Given the description of an element on the screen output the (x, y) to click on. 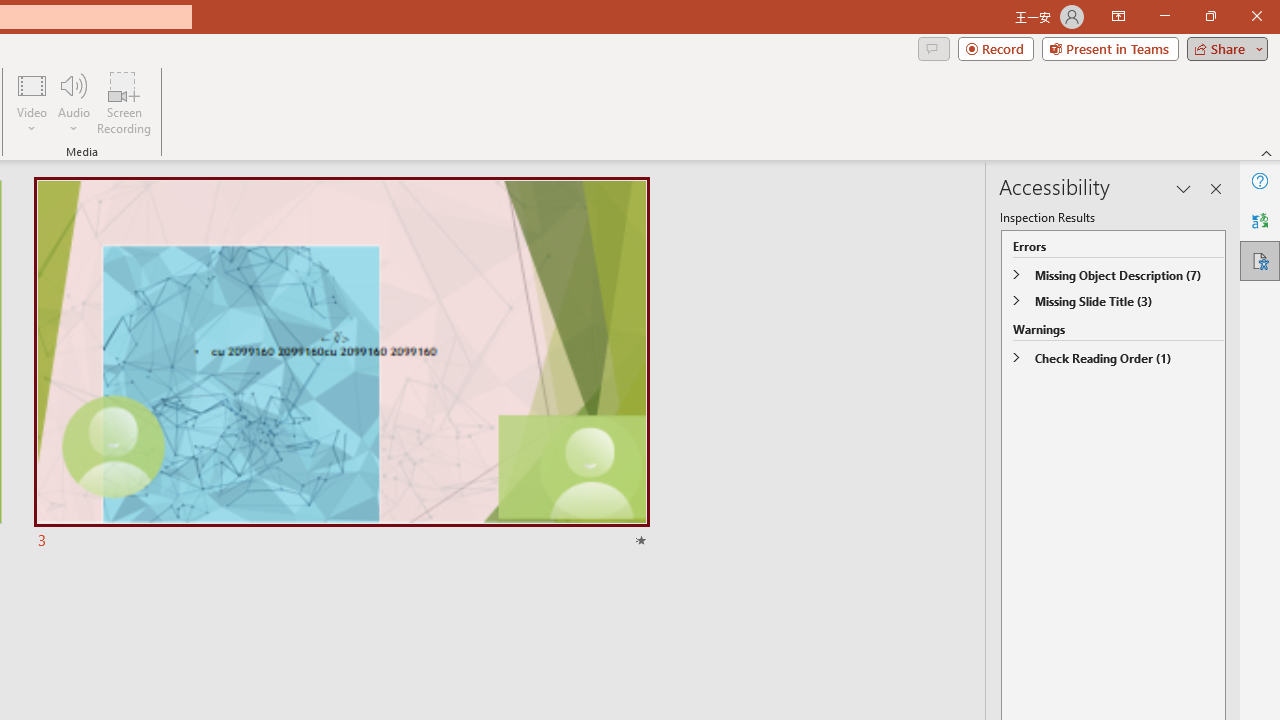
Video (31, 102)
Screen Recording... (123, 102)
